Given the description of an element on the screen output the (x, y) to click on. 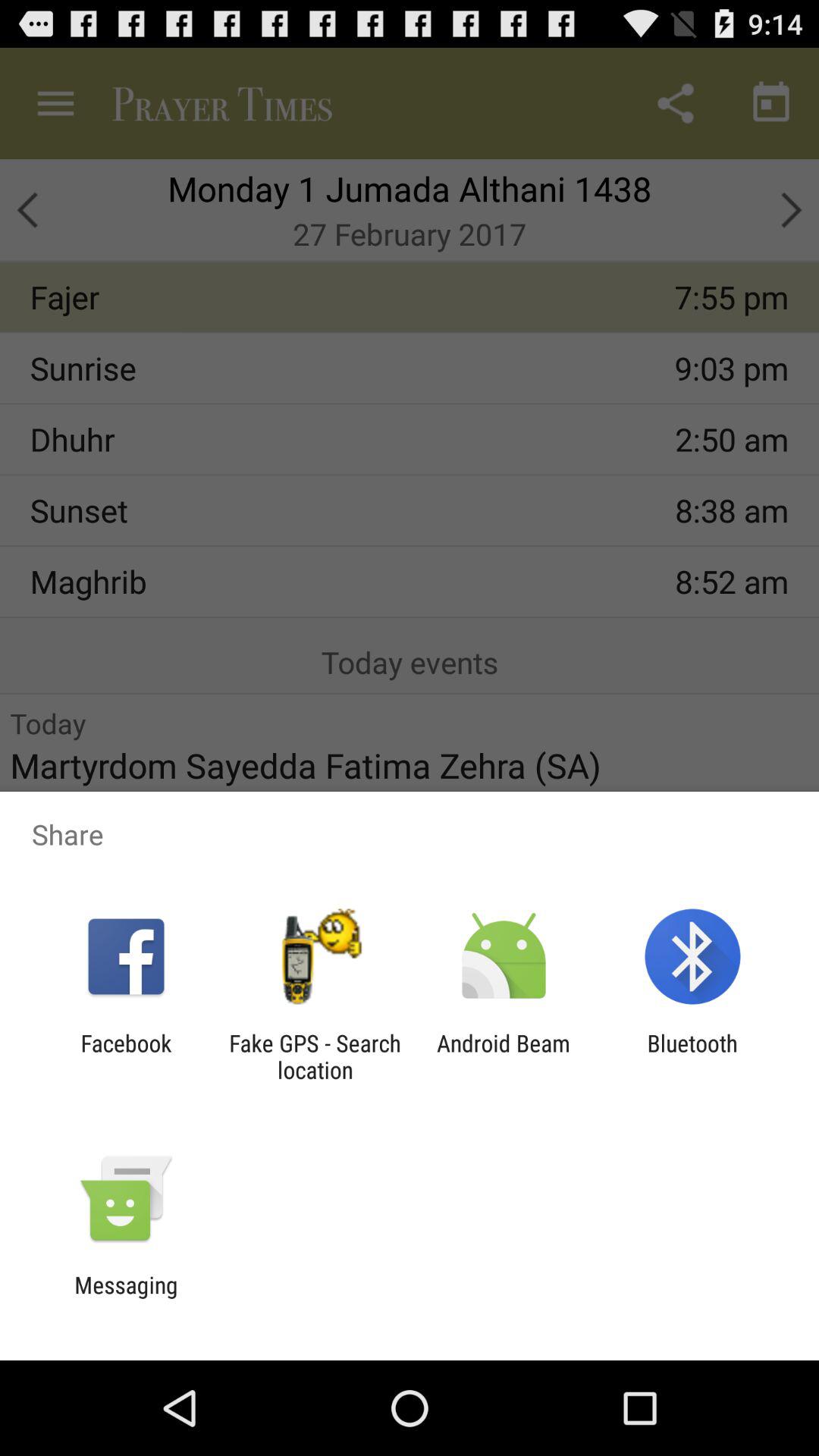
turn off app to the right of the facebook (314, 1056)
